Given the description of an element on the screen output the (x, y) to click on. 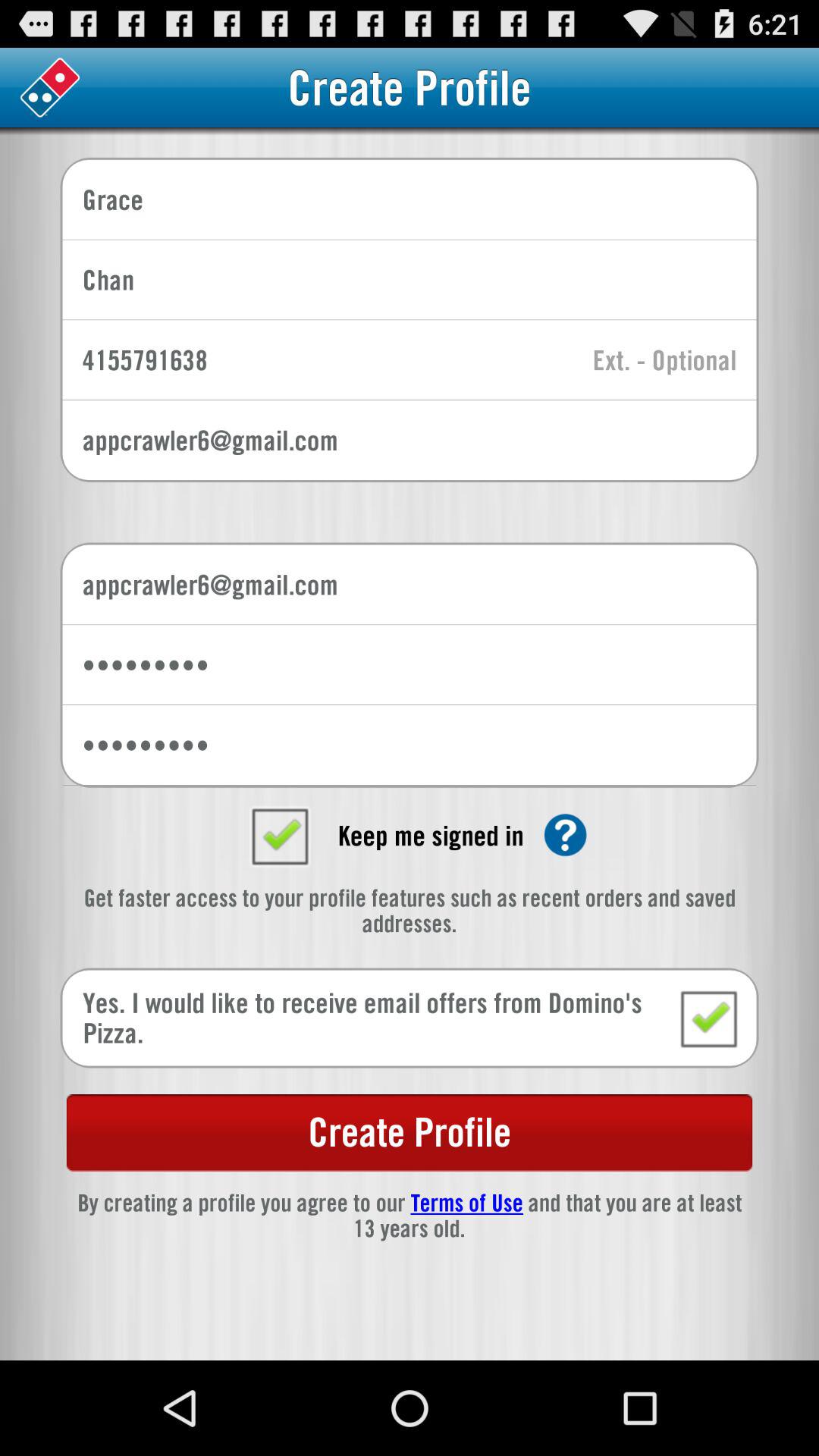
enter extension (664, 361)
